Given the description of an element on the screen output the (x, y) to click on. 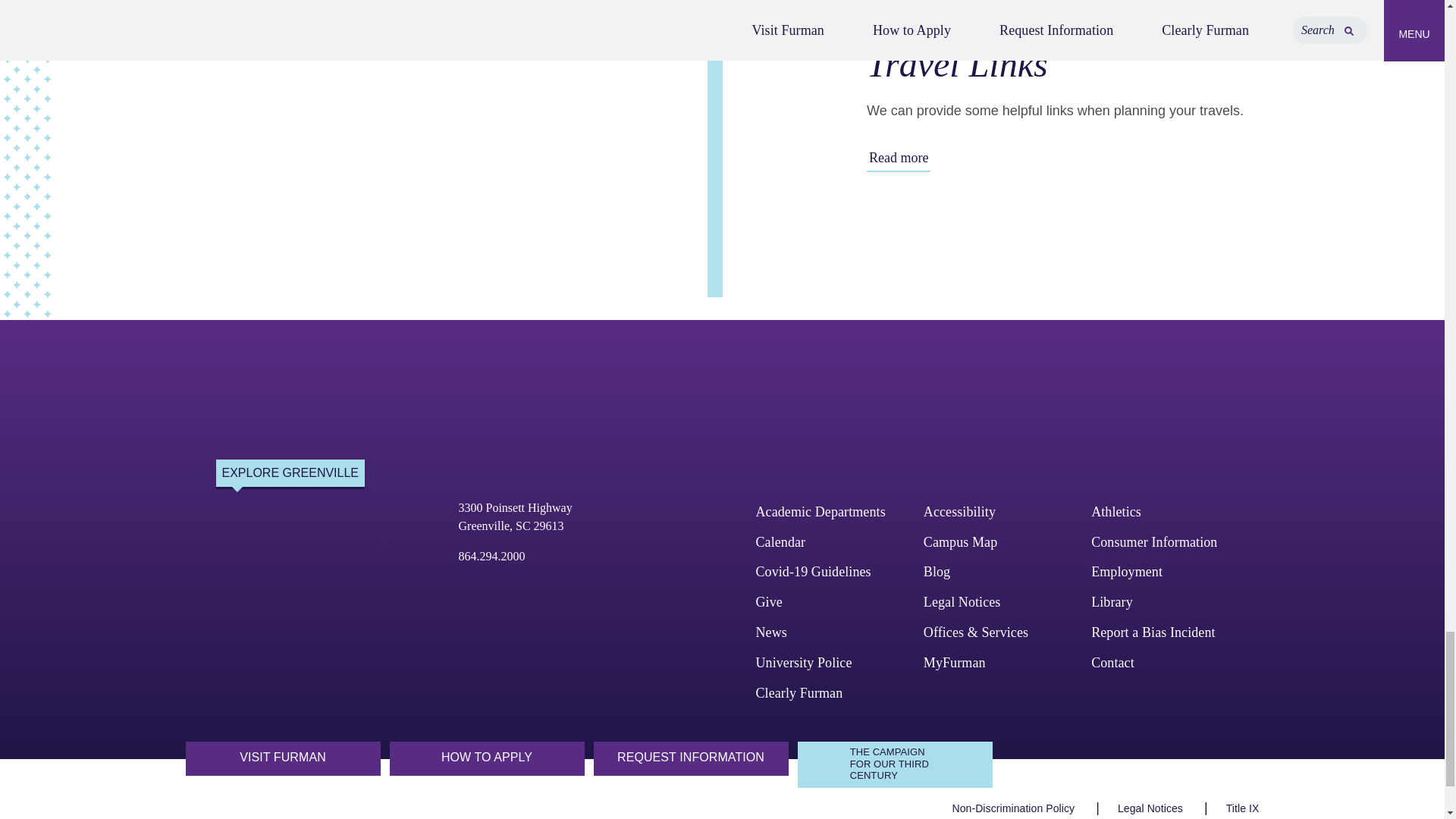
Academic Departments (515, 516)
Read more (820, 511)
864.294.2000 (898, 157)
